Given the description of an element on the screen output the (x, y) to click on. 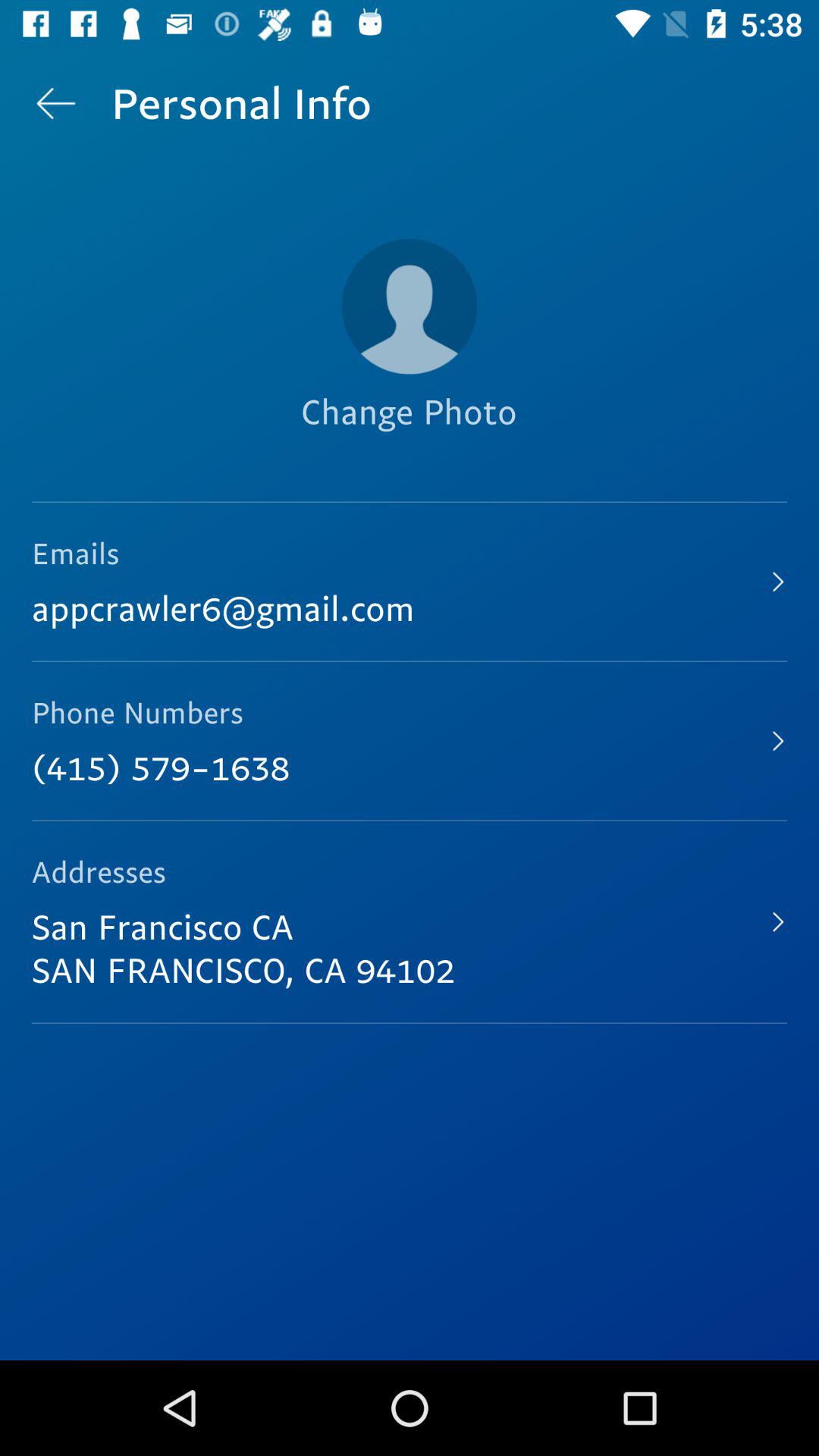
turn on the item to the left of the personal info (55, 103)
